Given the description of an element on the screen output the (x, y) to click on. 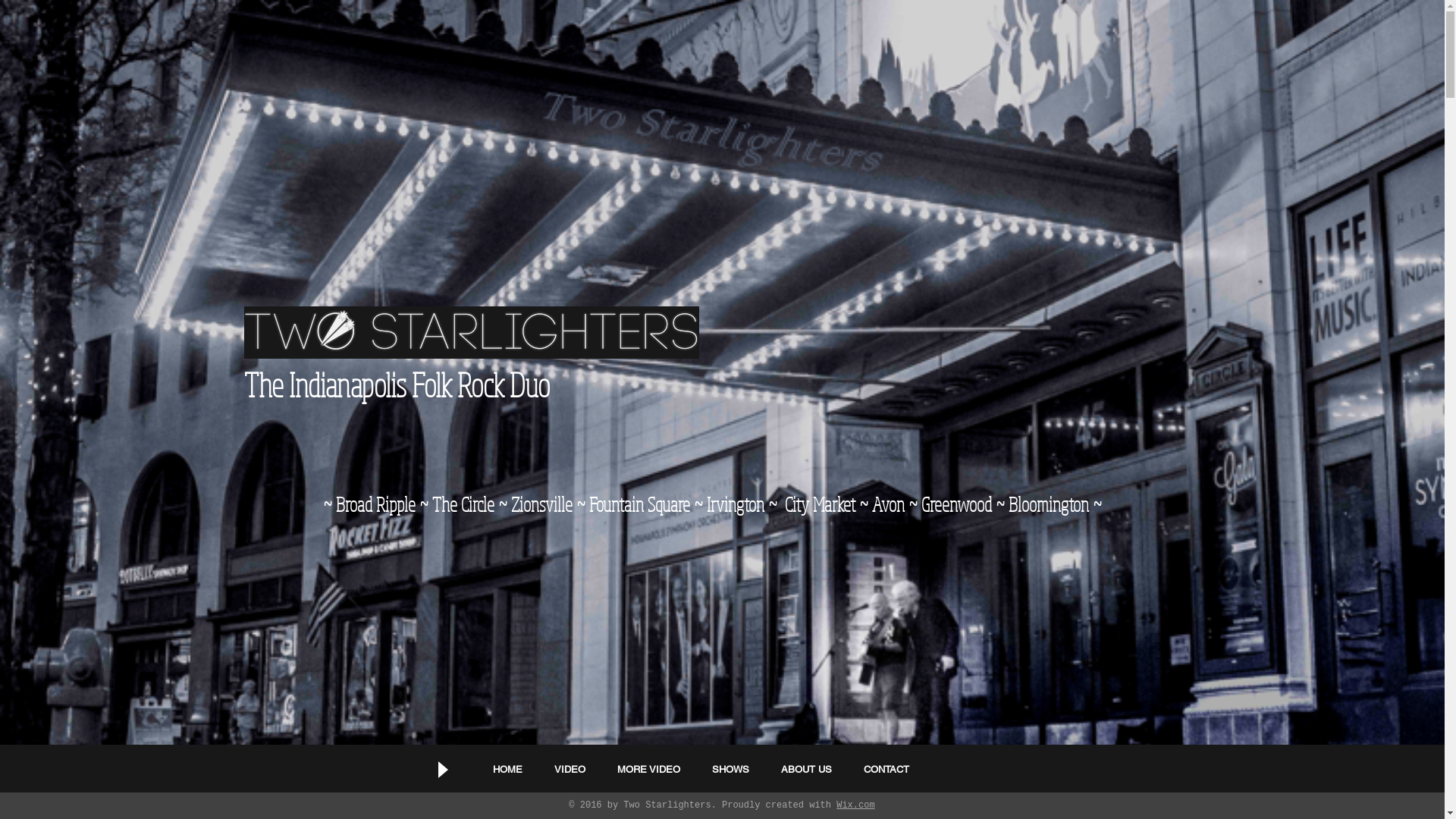
CONTACT Element type: text (886, 769)
Wix.com Element type: text (855, 805)
MORE VIDEO Element type: text (648, 769)
HOME Element type: text (507, 769)
VIDEO Element type: text (569, 769)
SHOWS Element type: text (730, 769)
Facebook Like Element type: hover (993, 763)
ABOUT US Element type: text (806, 769)
